Given the description of an element on the screen output the (x, y) to click on. 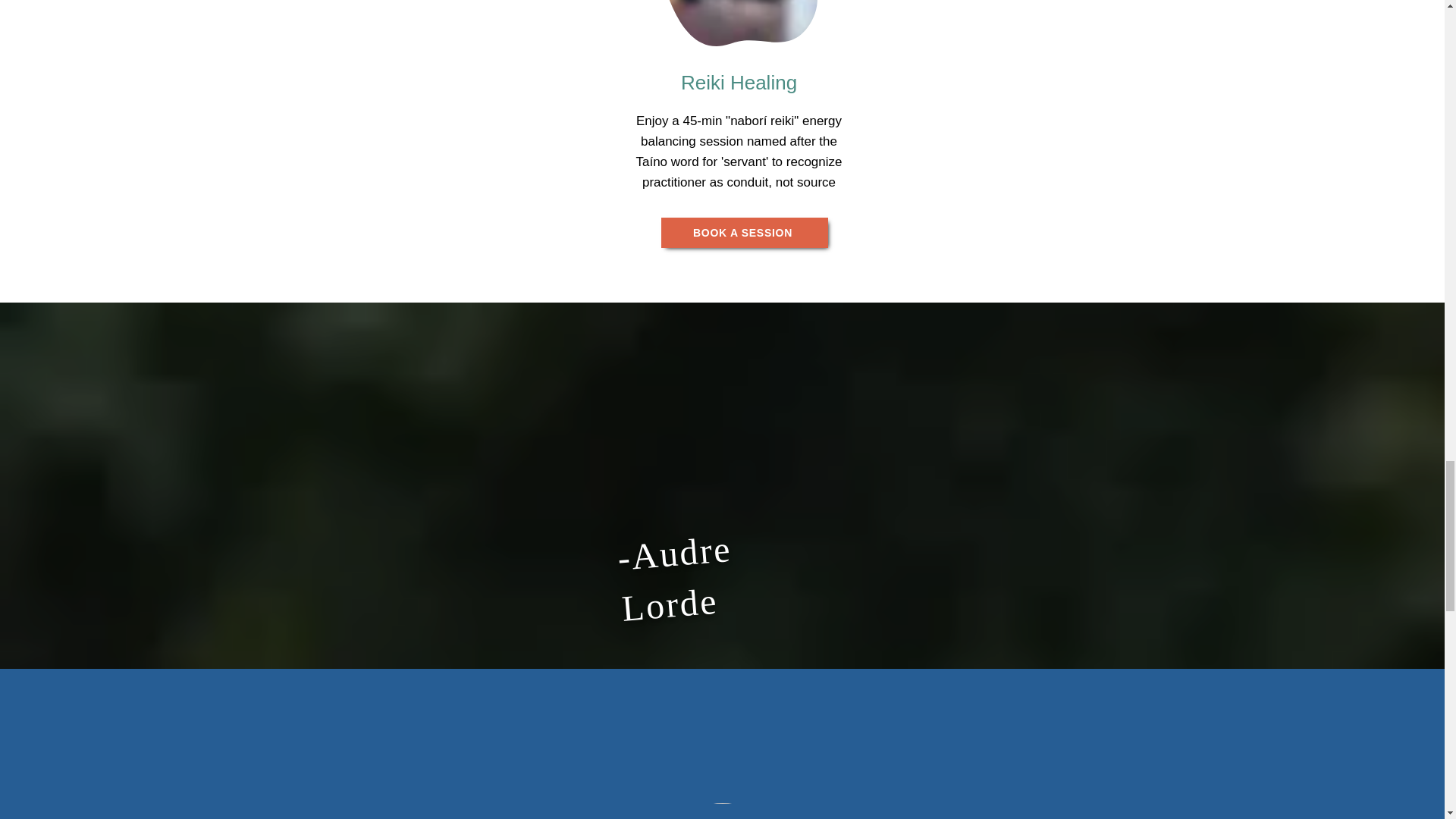
BOOK A SESSION (744, 232)
Shave.jpg (722, 811)
